Given the description of an element on the screen output the (x, y) to click on. 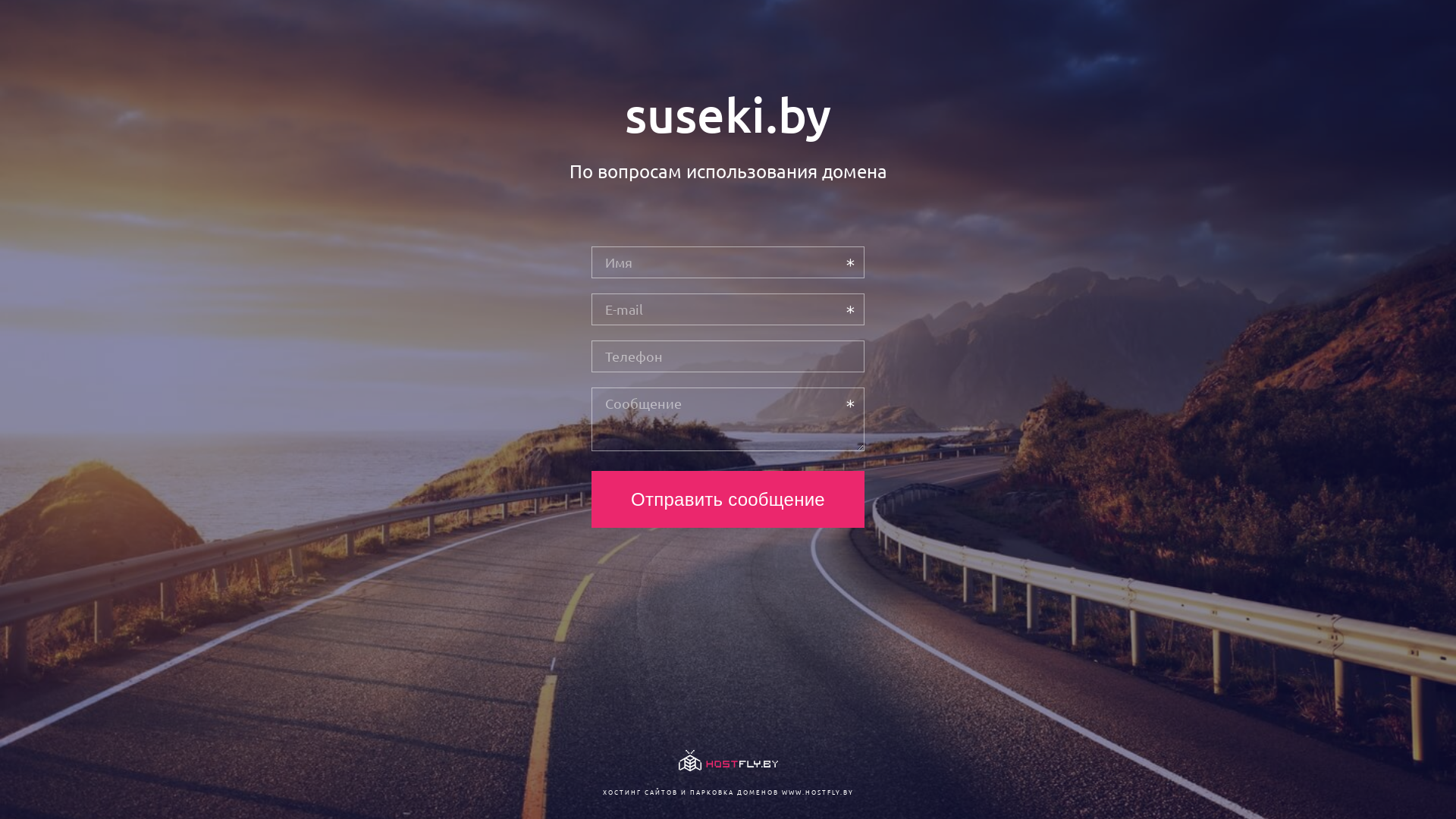
WWW.HOSTFLY.BY Element type: text (817, 791)
